Given the description of an element on the screen output the (x, y) to click on. 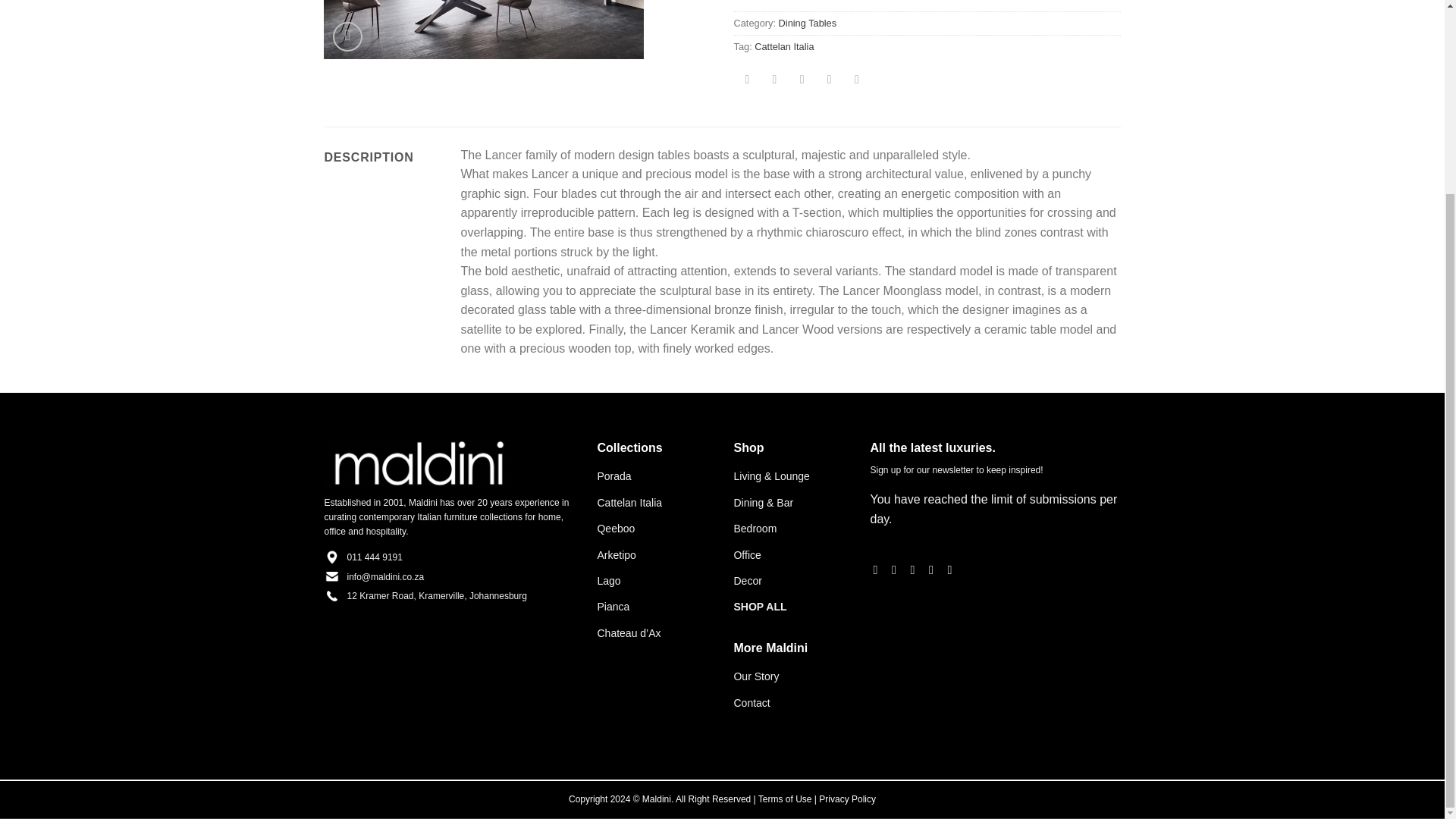
Share on LinkedIn (856, 80)
Follow on LinkedIn (953, 569)
Share on Facebook (747, 80)
Zoom (347, 36)
Follow on Facebook (879, 569)
Email to a Friend (801, 80)
Share on Twitter (774, 80)
Pin on Pinterest (828, 80)
